Given the description of an element on the screen output the (x, y) to click on. 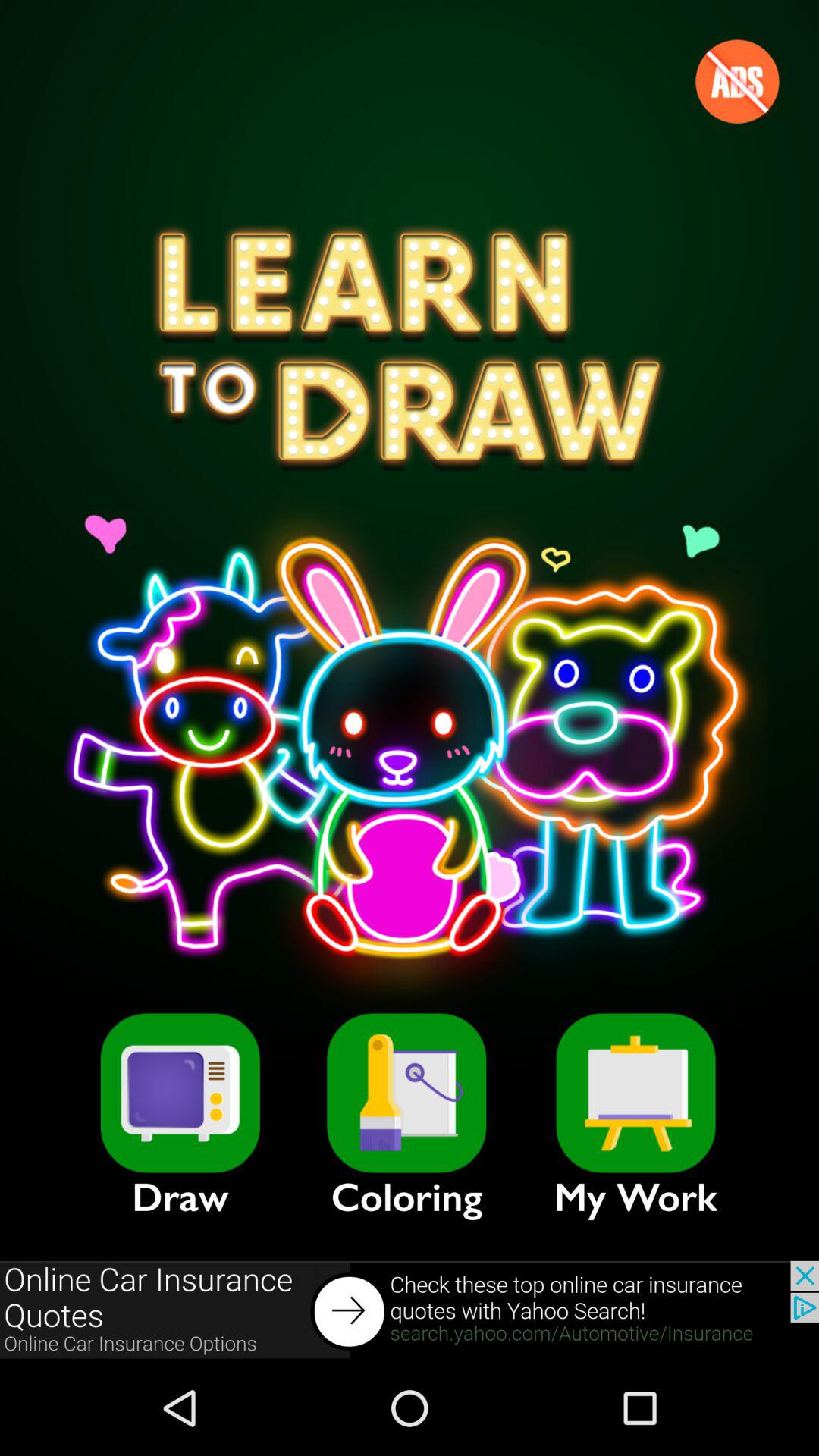
tap item above the coloring item (406, 1092)
